Given the description of an element on the screen output the (x, y) to click on. 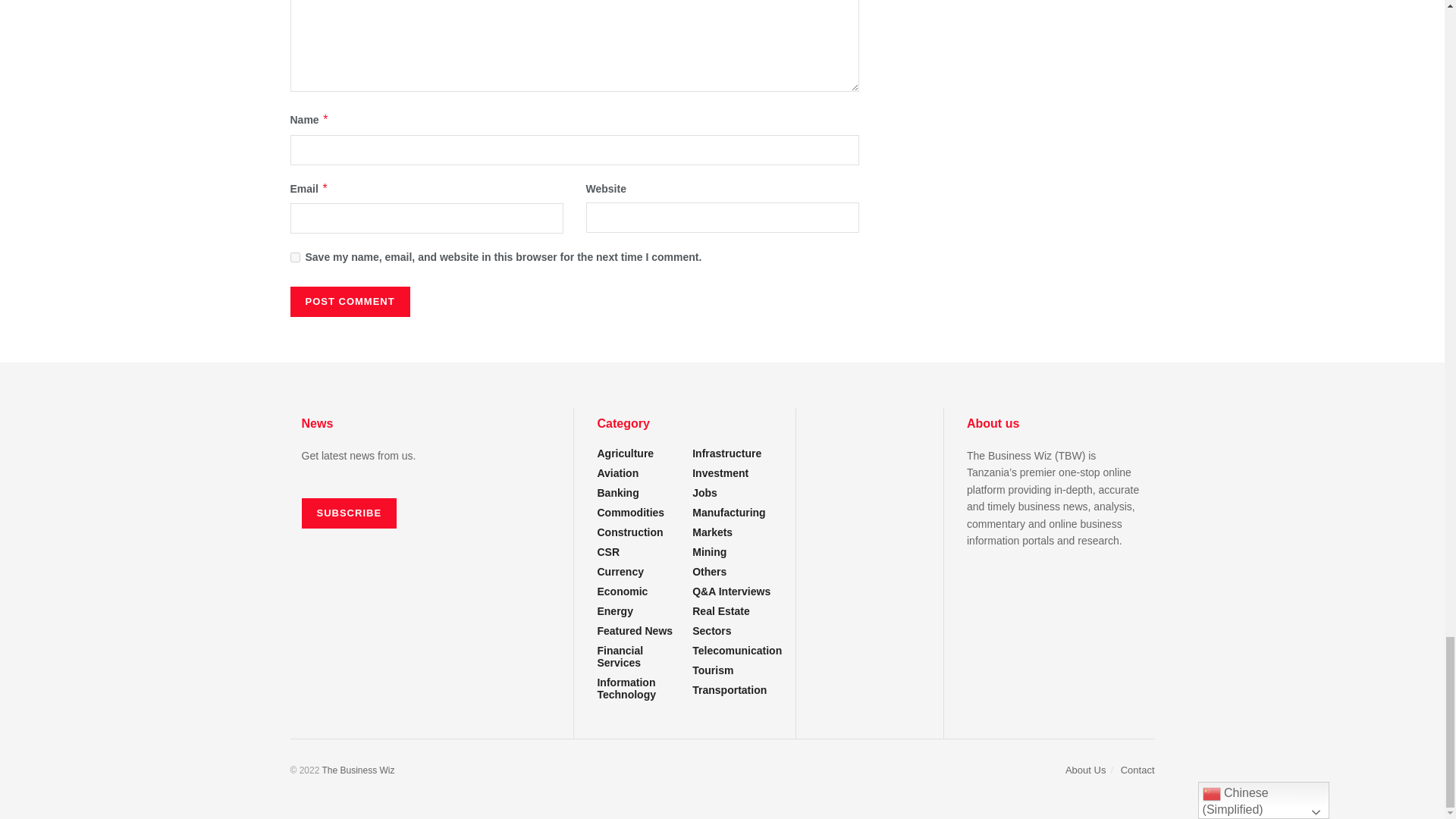
The Business Wiz (357, 769)
under sectors (721, 611)
under sectors (629, 532)
Post Comment (349, 301)
under sectors (624, 453)
under sectors (729, 512)
under sectors (636, 656)
yes (294, 257)
under sectors (636, 688)
under sectors (737, 650)
under sectors (711, 630)
under sectors (713, 670)
under sectors (629, 512)
under sectors (709, 551)
